Given the description of an element on the screen output the (x, y) to click on. 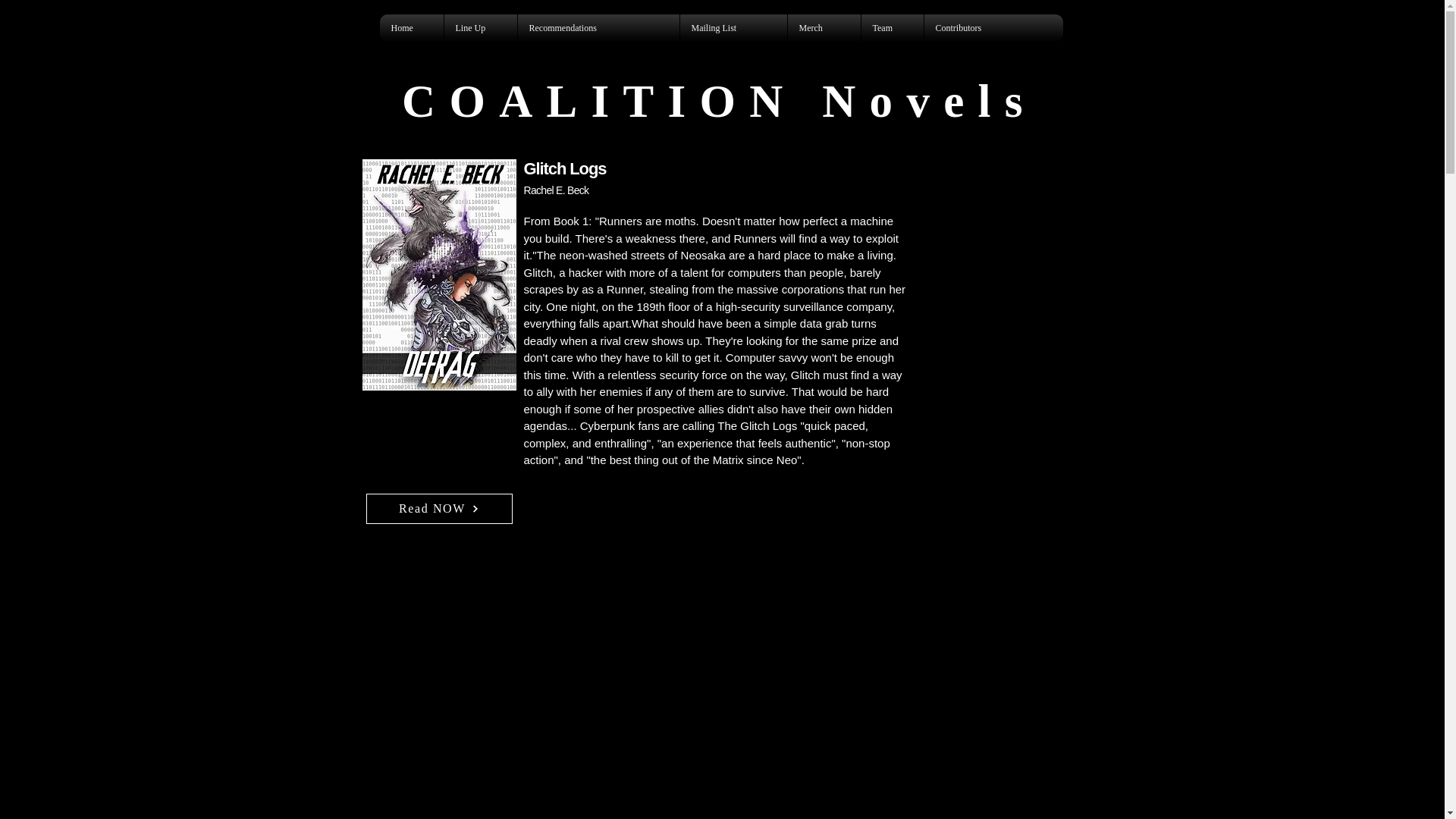
Merch (824, 28)
Read NOW (438, 508)
Contributors (986, 28)
Mailing List (733, 28)
Team (891, 28)
Line Up (479, 28)
Home (411, 28)
Recommendations (598, 28)
